Given the description of an element on the screen output the (x, y) to click on. 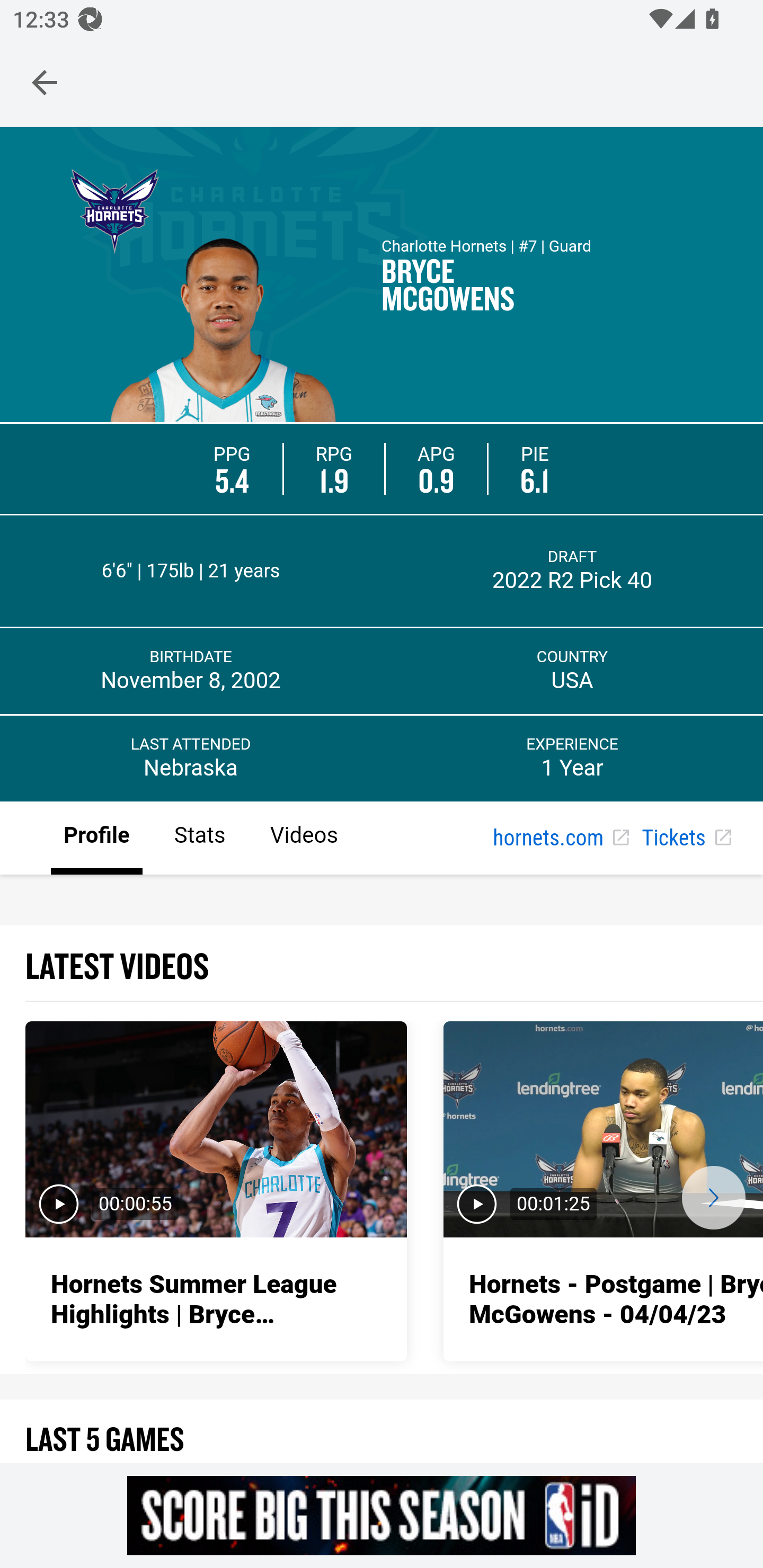
Navigate up (44, 82)
Charlotte Hornets Logo (114, 209)
Profile (97, 838)
Stats (199, 838)
Videos (302, 838)
hornets.com (560, 838)
Tickets (685, 838)
Carousel Button (713, 1197)
